Given the description of an element on the screen output the (x, y) to click on. 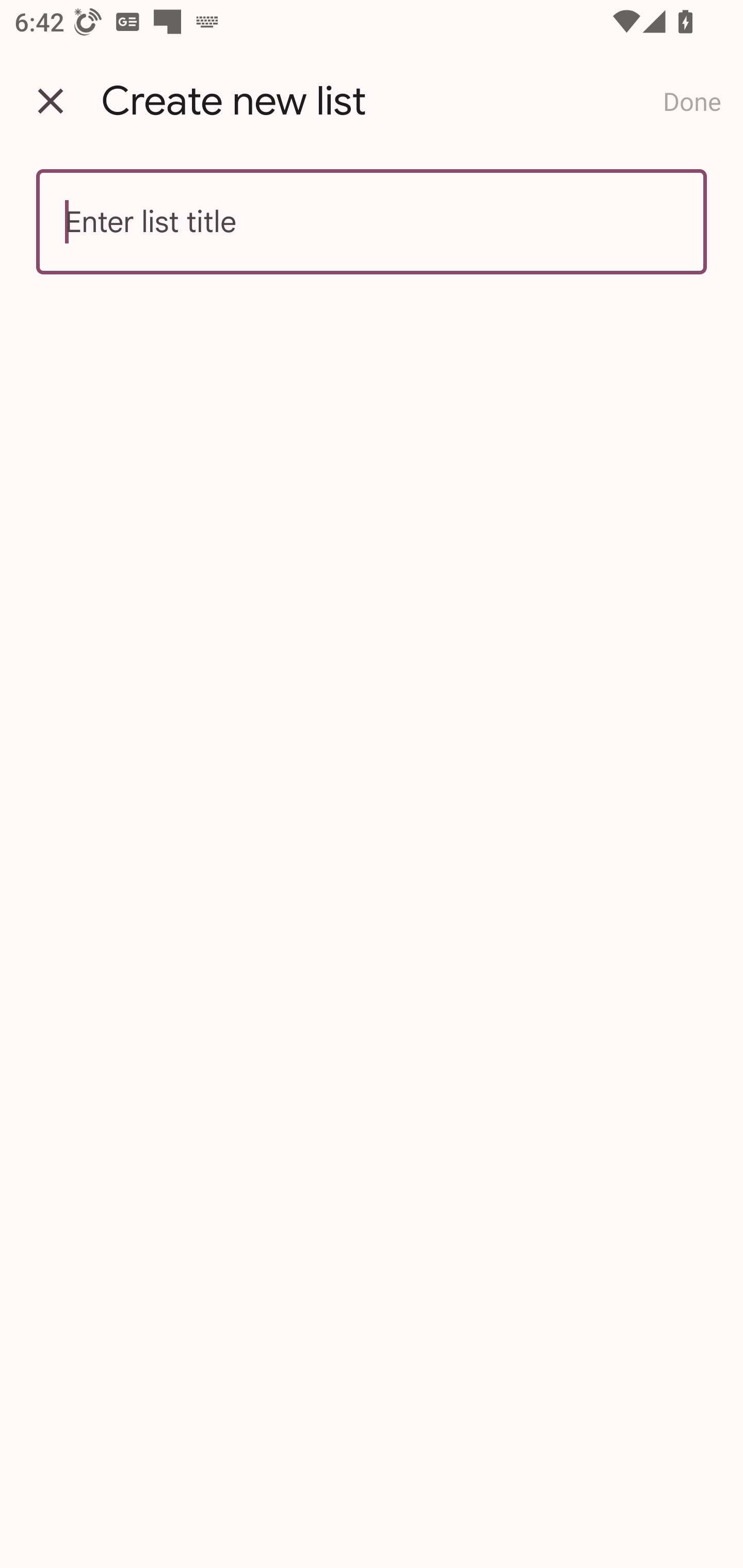
Back (50, 101)
Done (692, 101)
Enter list title (371, 221)
